Given the description of an element on the screen output the (x, y) to click on. 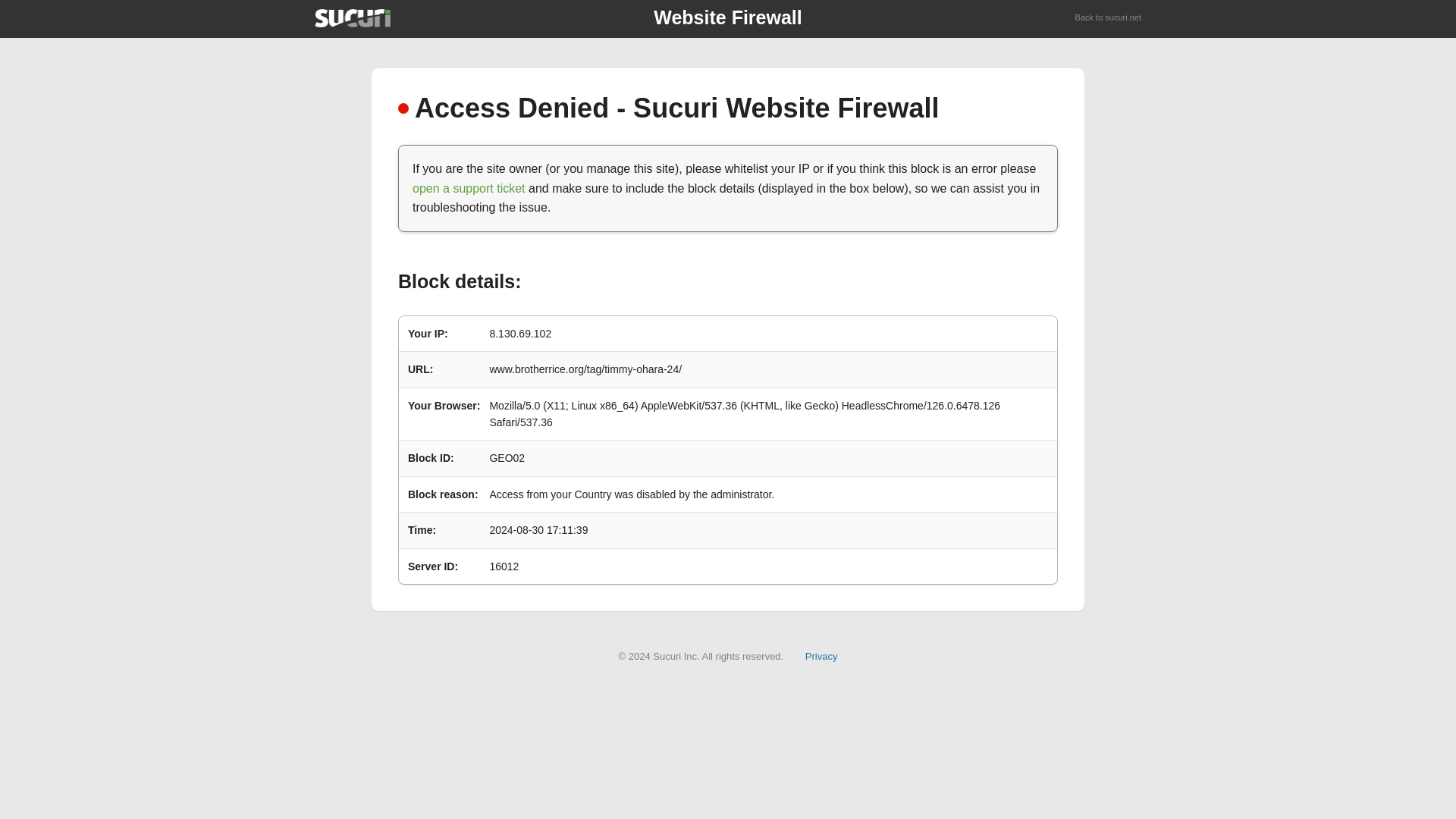
Privacy (821, 655)
open a support ticket (468, 187)
Back to sucuri.net (1108, 18)
